Given the description of an element on the screen output the (x, y) to click on. 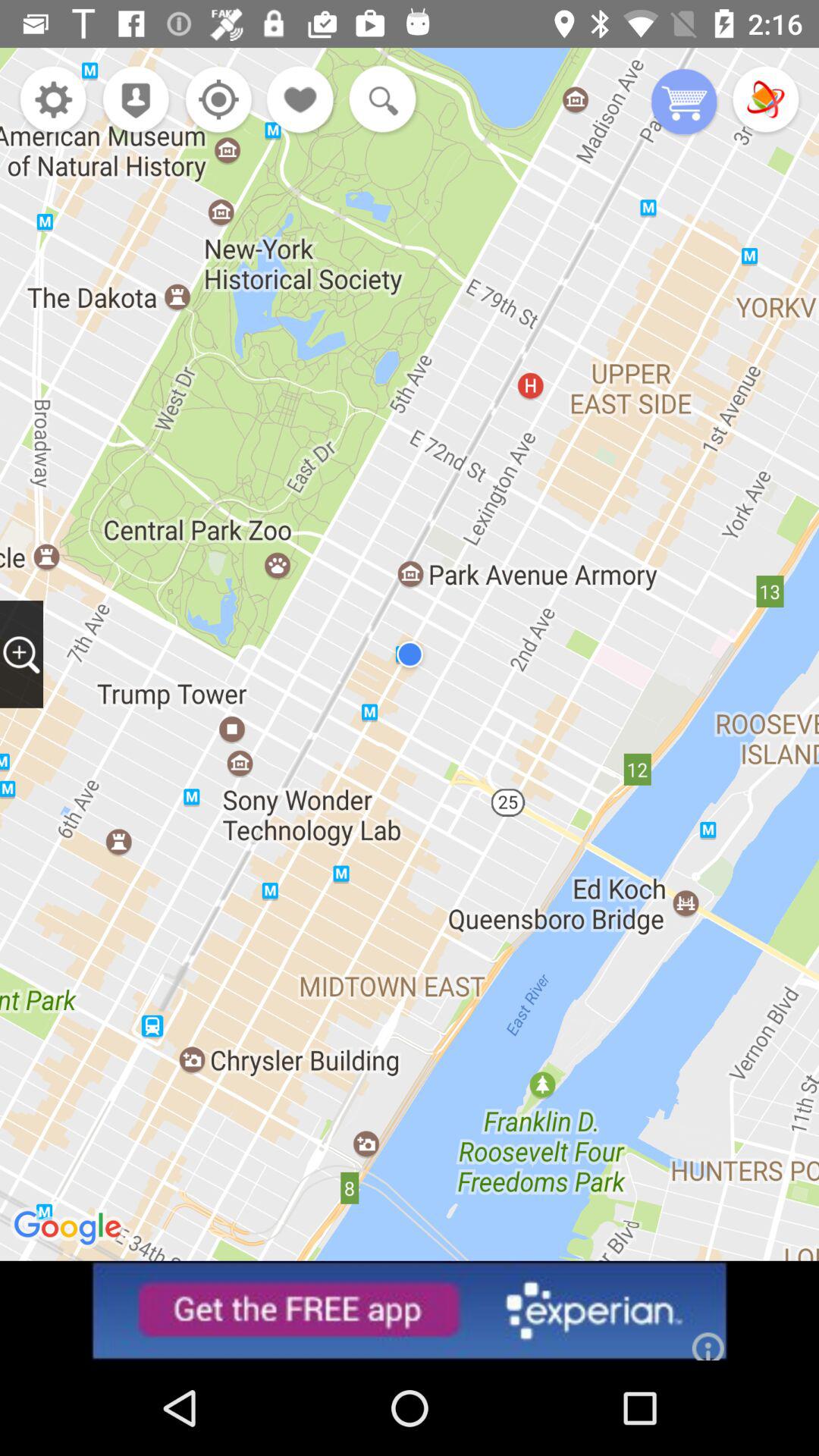
advertisement (409, 1310)
